Given the description of an element on the screen output the (x, y) to click on. 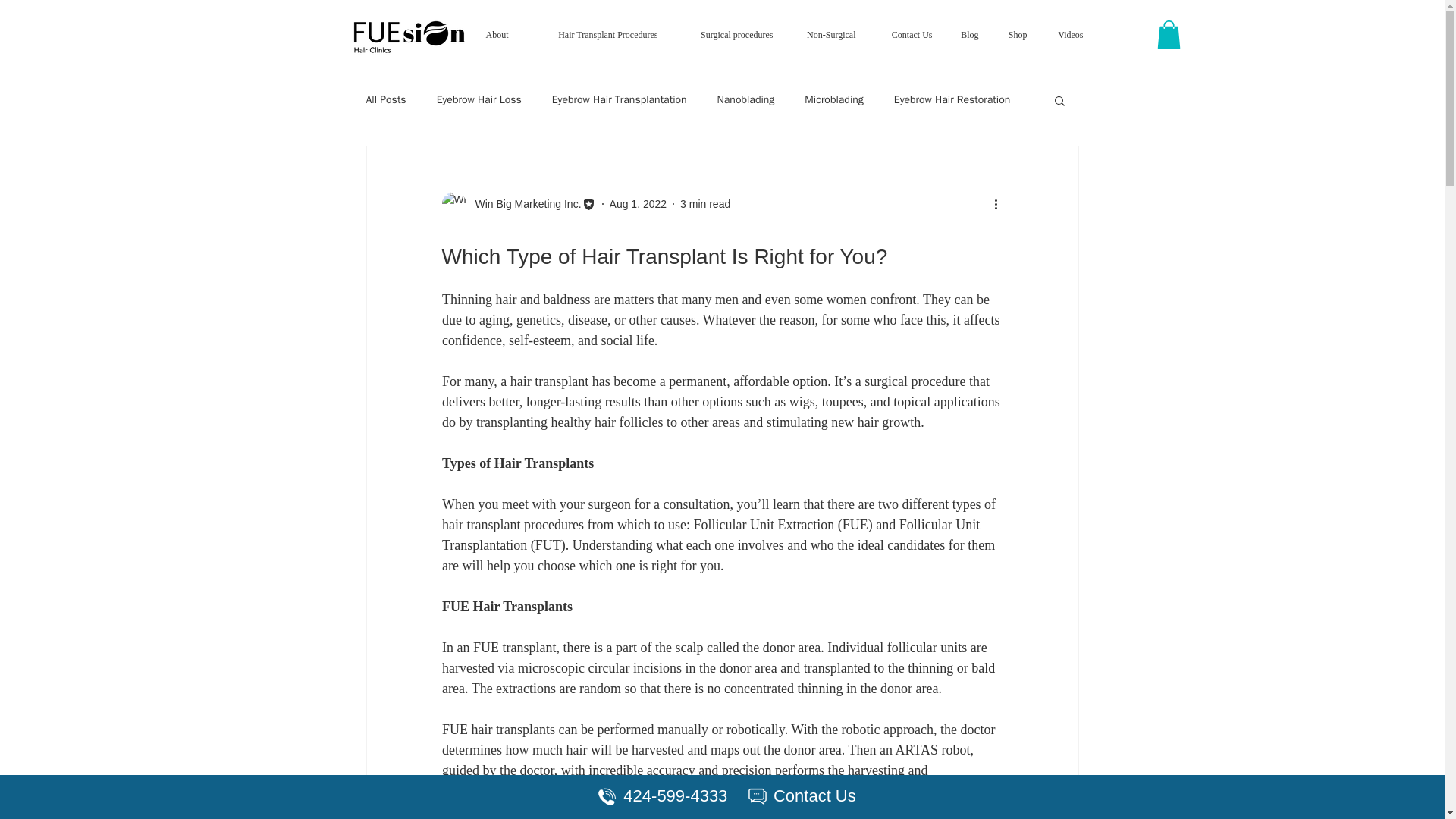
Eyebrow Hair Loss (478, 100)
All Posts (385, 100)
Aug 1, 2022 (638, 203)
Win Big Marketing Inc. (522, 204)
Eyebrow Hair Transplantation (619, 100)
Nanoblading (745, 100)
3 min read (704, 203)
About (491, 34)
Blog (966, 34)
Contact Us (905, 34)
